Given the description of an element on the screen output the (x, y) to click on. 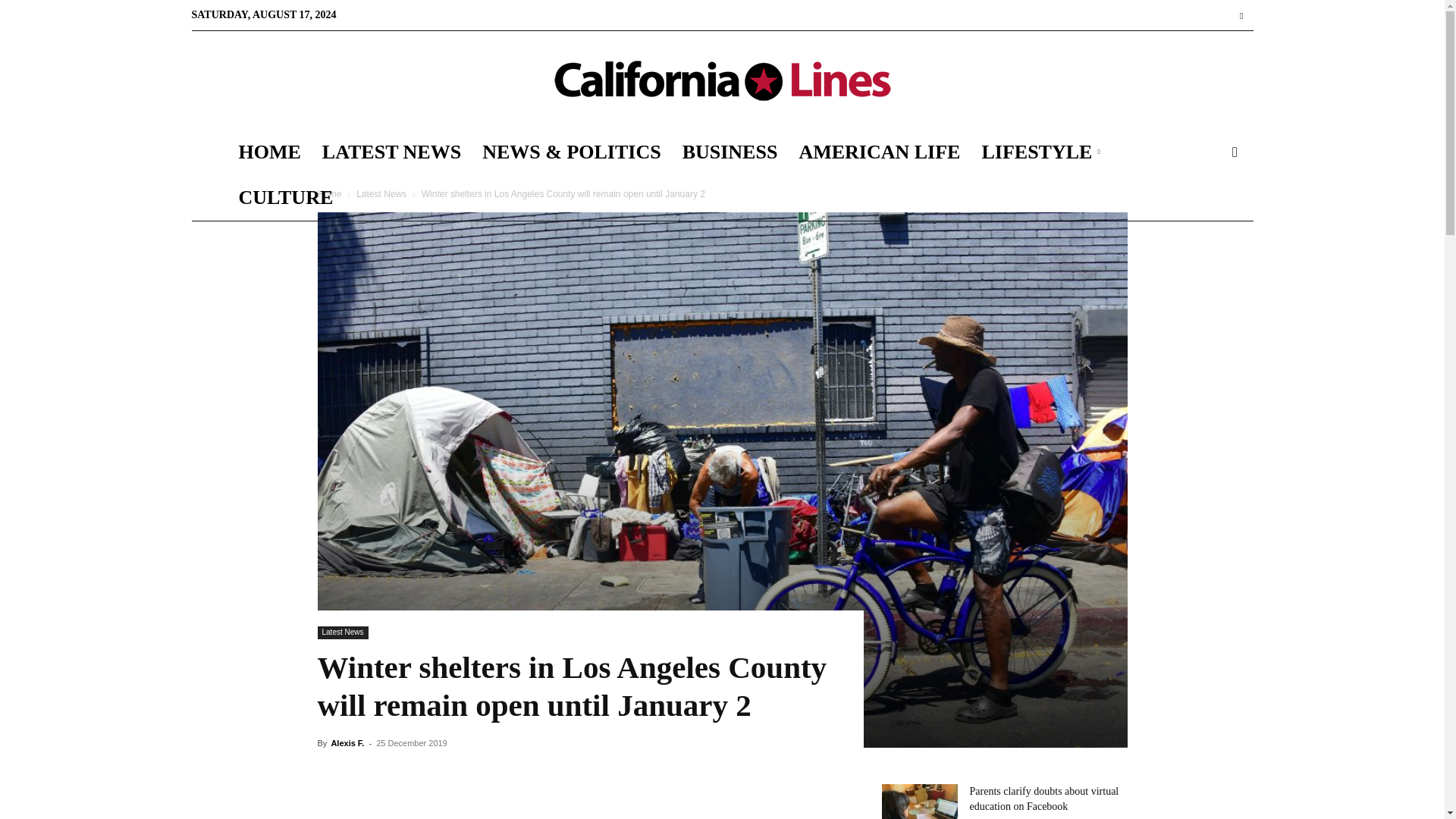
HOME (269, 152)
LIFESTYLE (1043, 152)
LATEST NEWS (391, 152)
Latest News (381, 194)
Alexis F. (347, 742)
Search (1210, 217)
View all posts in Latest News (381, 194)
BUSINESS (730, 152)
Home (328, 194)
